Given the description of an element on the screen output the (x, y) to click on. 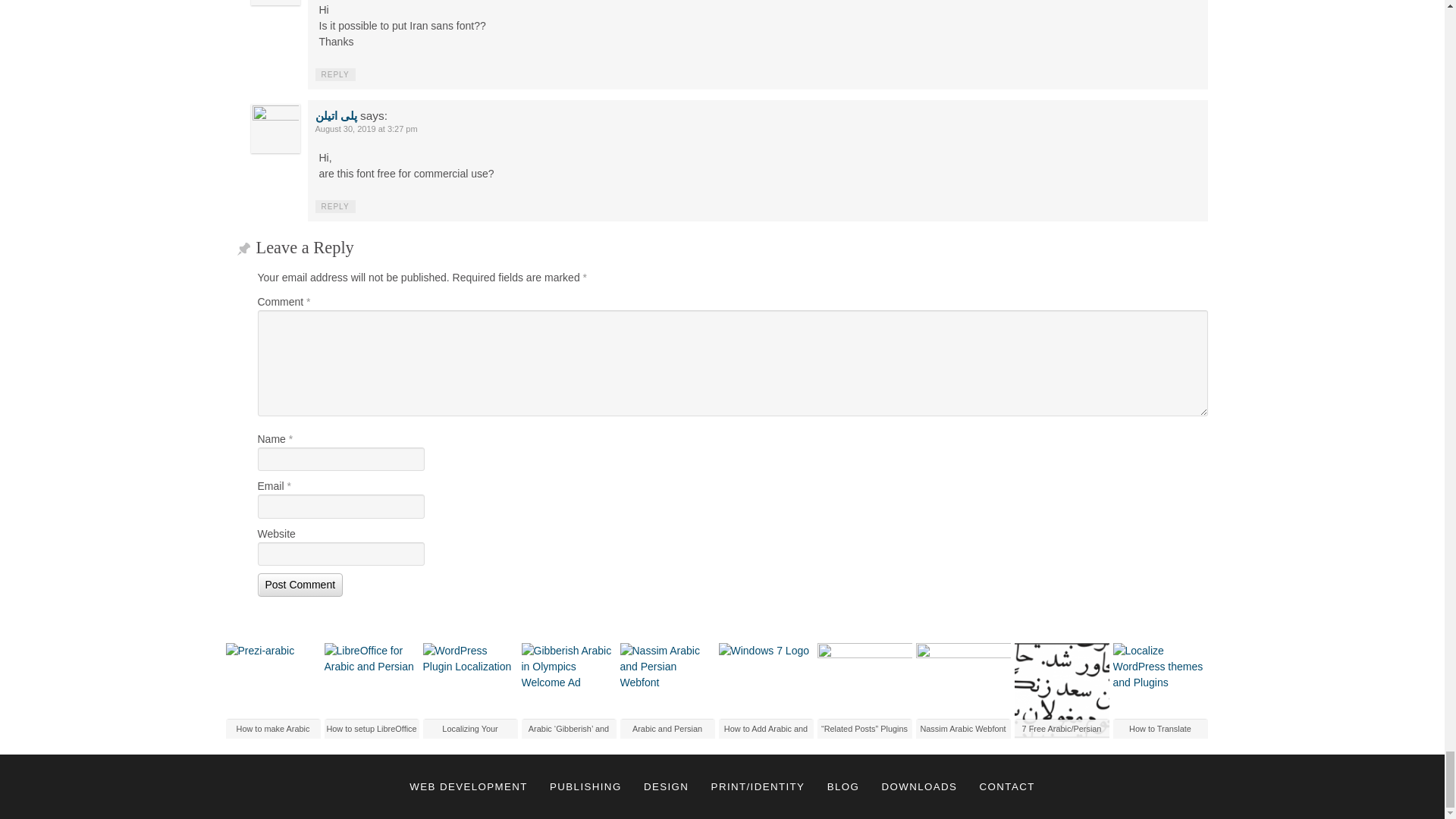
Post Comment (300, 585)
